Given the description of an element on the screen output the (x, y) to click on. 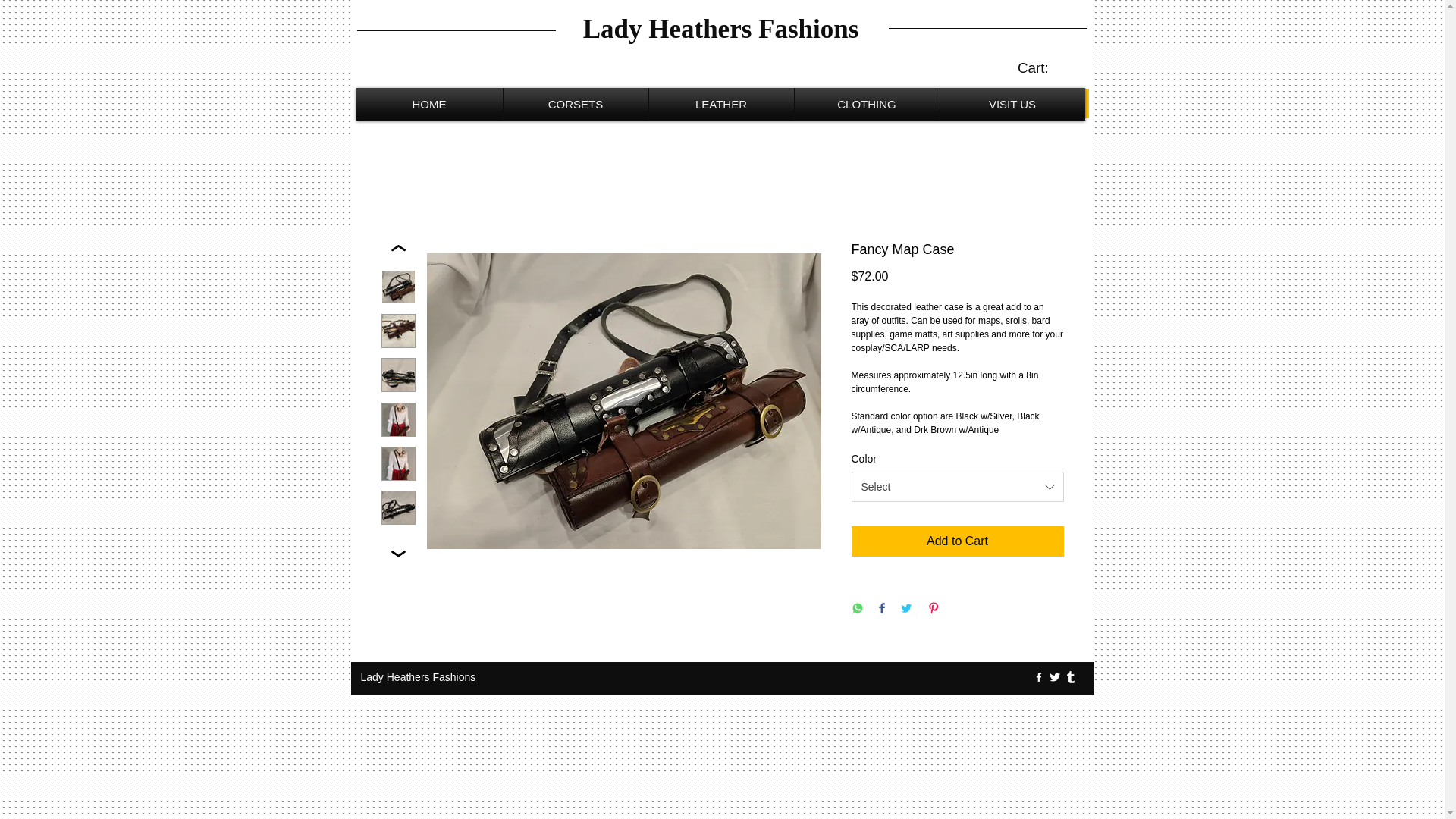
LEATHER (720, 103)
Cart: (1042, 67)
Cart: (1042, 67)
CORSETS (574, 103)
Add to Cart (956, 541)
HOME (428, 103)
VISIT US (1011, 103)
Select (956, 486)
CLOTHING (865, 103)
